Given the description of an element on the screen output the (x, y) to click on. 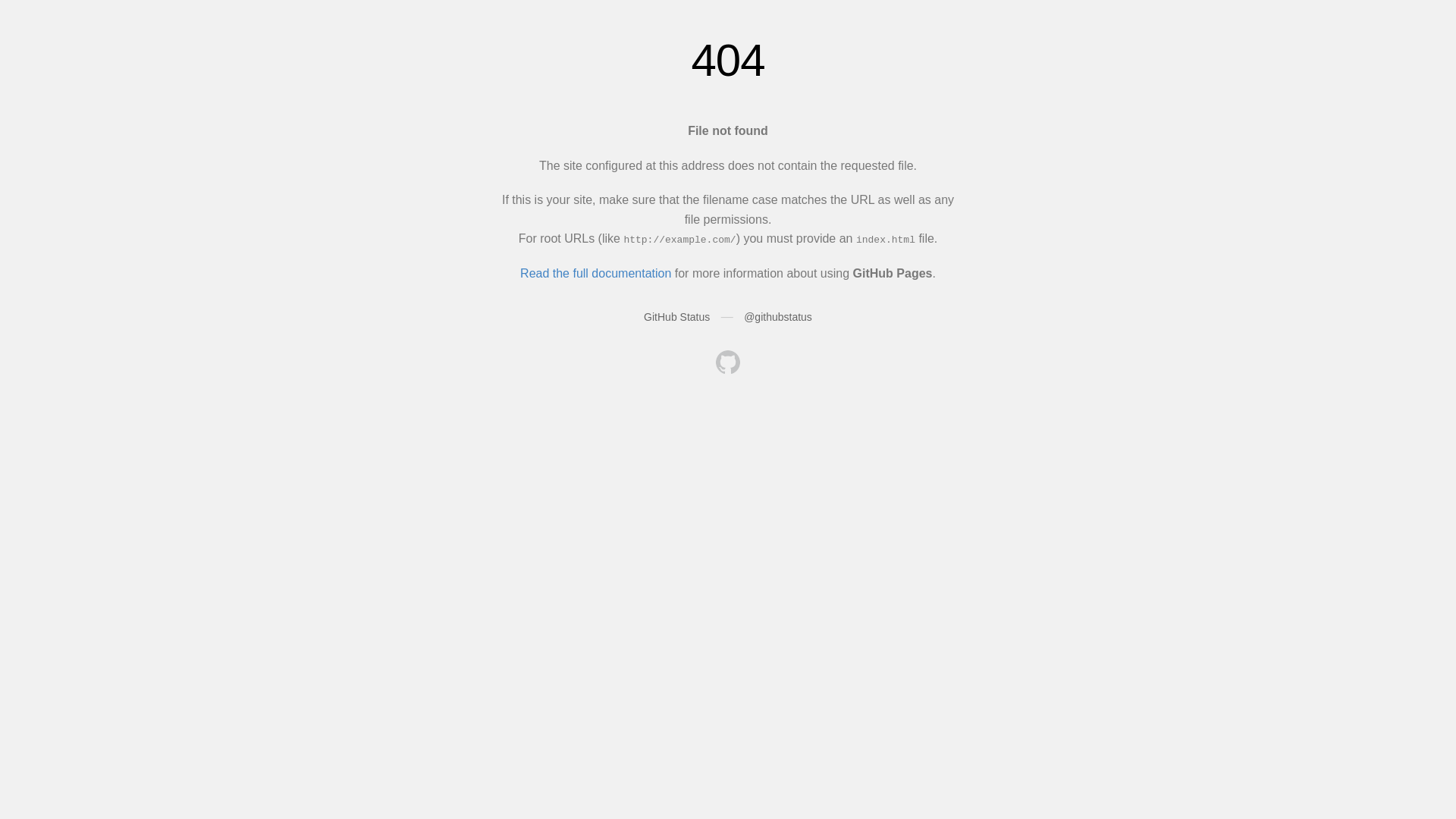
Read the full documentation Element type: text (595, 272)
@githubstatus Element type: text (777, 316)
GitHub Status Element type: text (676, 316)
